Given the description of an element on the screen output the (x, y) to click on. 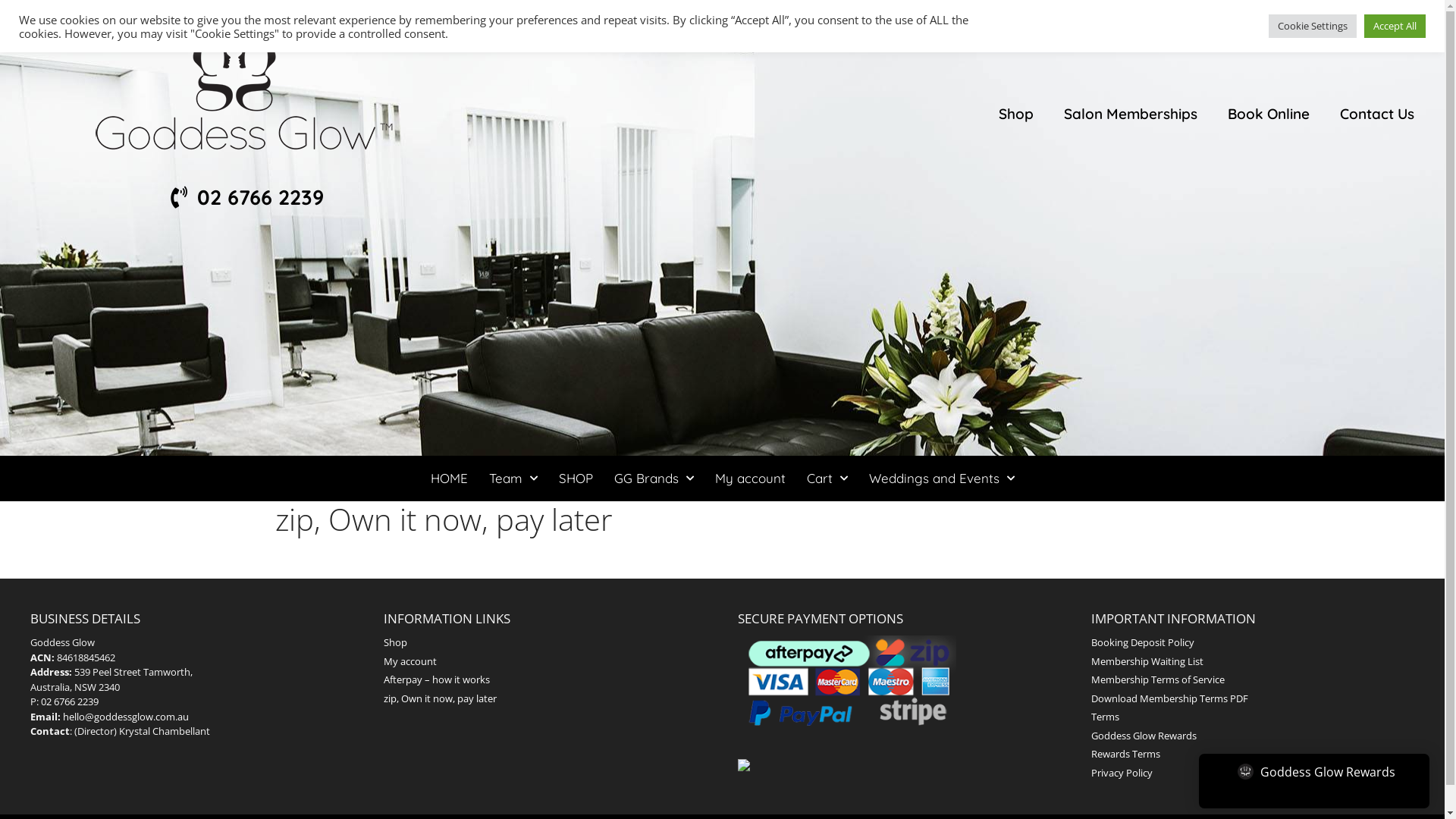
Team Element type: text (512, 477)
zip, Own it now, pay later Element type: text (439, 698)
hello@goddessglow.com.au Element type: text (125, 716)
Goddess Glow Rewards Element type: text (1314, 769)
02 6766 2239 Element type: text (244, 197)
Salon Memberships Element type: text (1130, 113)
Terms Element type: text (1105, 716)
Book Online Element type: text (1268, 113)
My account Element type: text (749, 477)
Goddess Glow Rewards Element type: text (1143, 734)
Membership Waiting List Element type: text (1147, 660)
Download Membership Terms PDF Element type: text (1169, 698)
Shop Element type: text (395, 642)
Booking Deposit Policy Element type: text (1142, 642)
Cart Element type: text (827, 477)
Accept All Element type: text (1394, 25)
My account Element type: text (409, 660)
HOME Element type: text (449, 477)
Shop Element type: text (1015, 113)
02 6766 2239 Element type: text (69, 701)
Contact Us Element type: text (1376, 113)
Privacy Policy Element type: text (1121, 772)
Membership Terms of Service Element type: text (1157, 679)
Rewards Terms Element type: text (1125, 753)
SHOP Element type: text (574, 477)
GG Brands Element type: text (653, 477)
Cookie Settings Element type: text (1312, 25)
Goddess Glow Rewards Element type: text (1313, 780)
Weddings and Events Element type: text (941, 477)
